Given the description of an element on the screen output the (x, y) to click on. 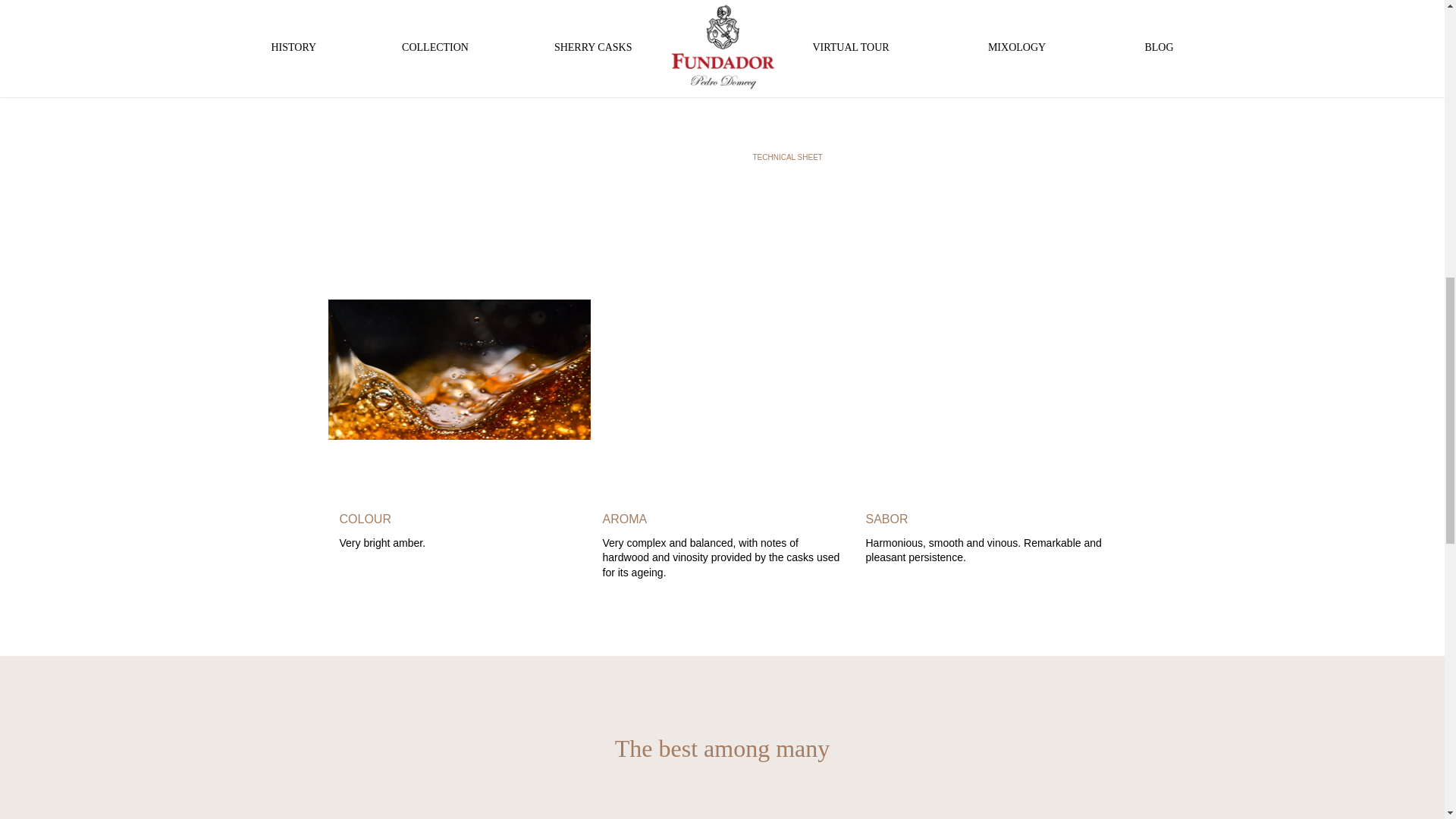
Discover more about Sherry Casks (846, 63)
TECHNICAL SHEET (801, 134)
Discover more about Sherry Casks (846, 63)
